Given the description of an element on the screen output the (x, y) to click on. 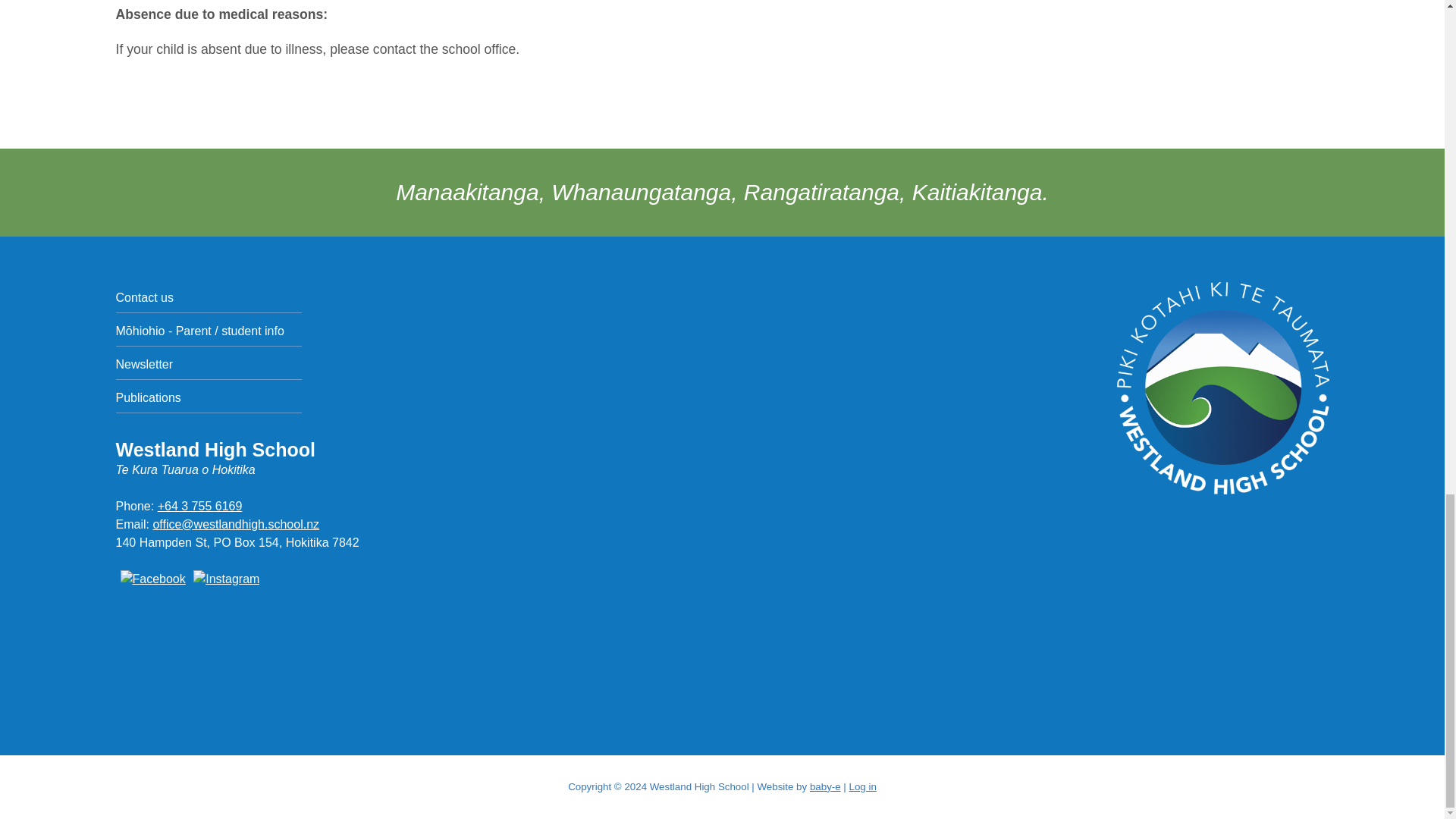
Instagram (224, 578)
Contact us (208, 298)
Facebook (149, 578)
Newsletter (208, 365)
Publications (208, 398)
